Given the description of an element on the screen output the (x, y) to click on. 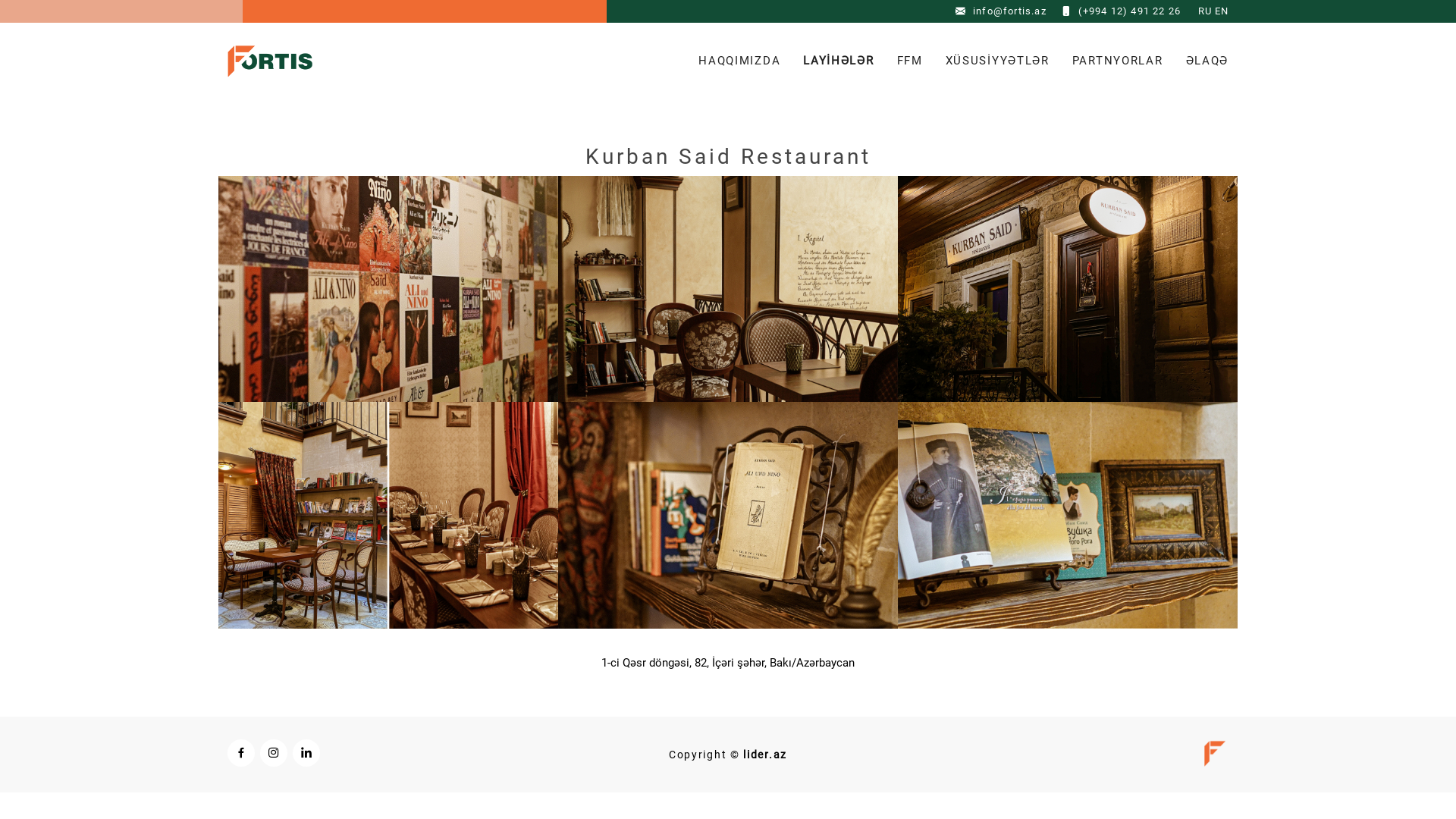
lider.az Element type: text (765, 754)
EN Element type: text (1221, 10)
RU Element type: text (1204, 10)
HAQQIMIZDA Element type: text (727, 60)
PARTNYORLAR Element type: text (1106, 60)
info@fortis.az Element type: text (1009, 10)
(+994 12) 491 22 26 Element type: text (1129, 10)
FFM Element type: text (898, 60)
